Given the description of an element on the screen output the (x, y) to click on. 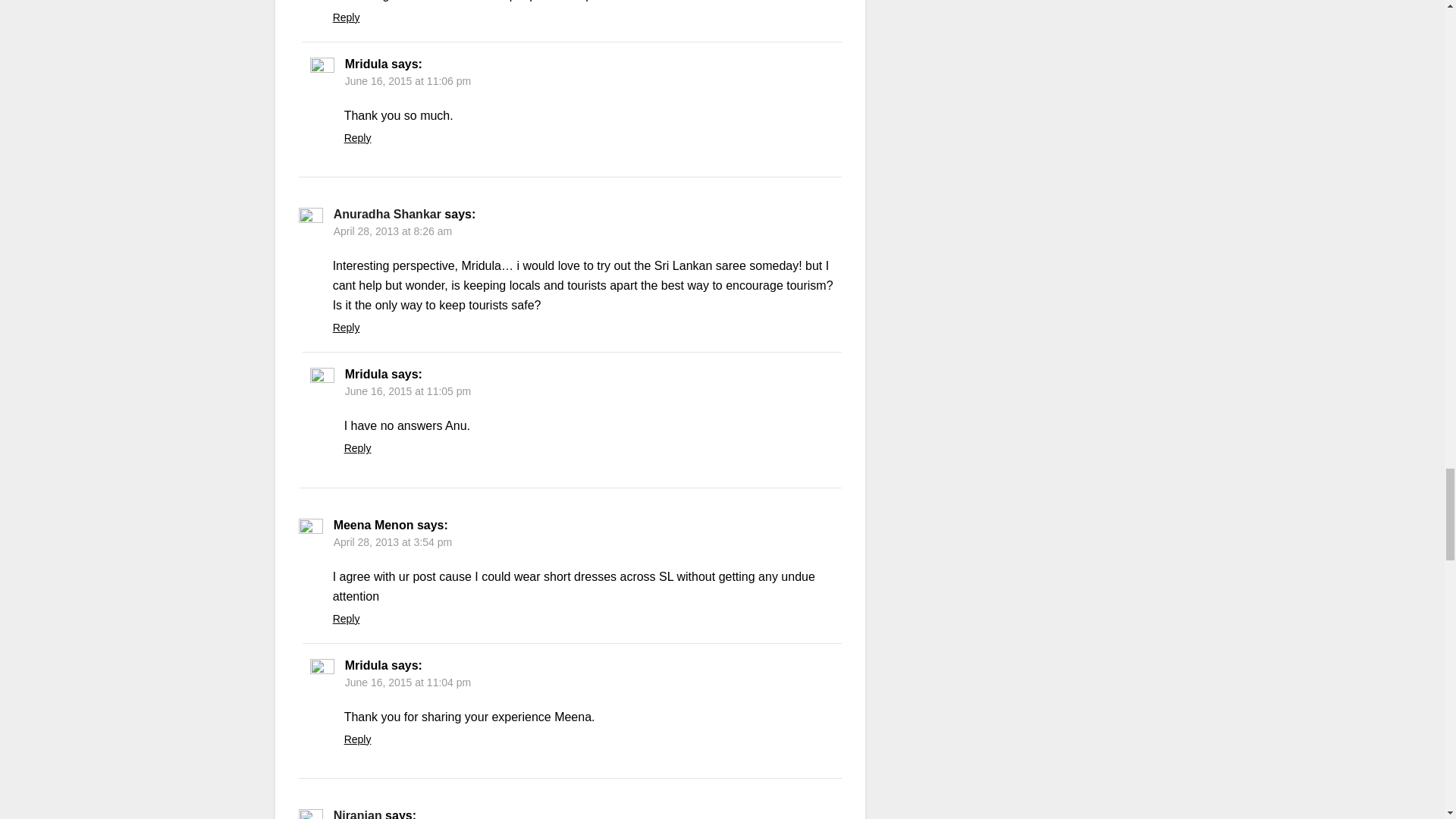
Reply (357, 137)
Reply (357, 739)
Reply (346, 618)
Niranjan (357, 814)
Reply (357, 448)
June 16, 2015 at 11:04 pm (408, 682)
June 16, 2015 at 11:06 pm (408, 80)
Reply (346, 17)
April 28, 2013 at 3:54 pm (392, 541)
Reply (346, 327)
